Given the description of an element on the screen output the (x, y) to click on. 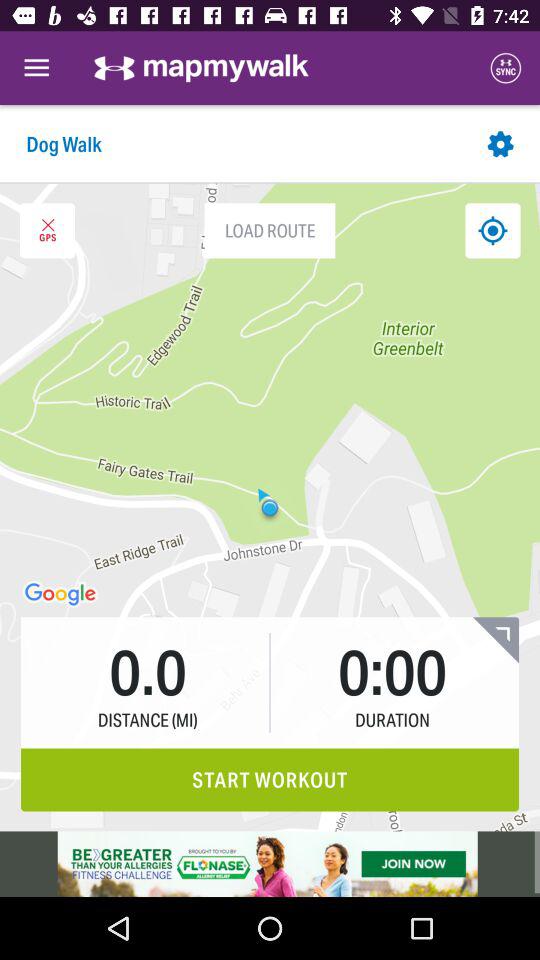
open advertisement (270, 864)
